Given the description of an element on the screen output the (x, y) to click on. 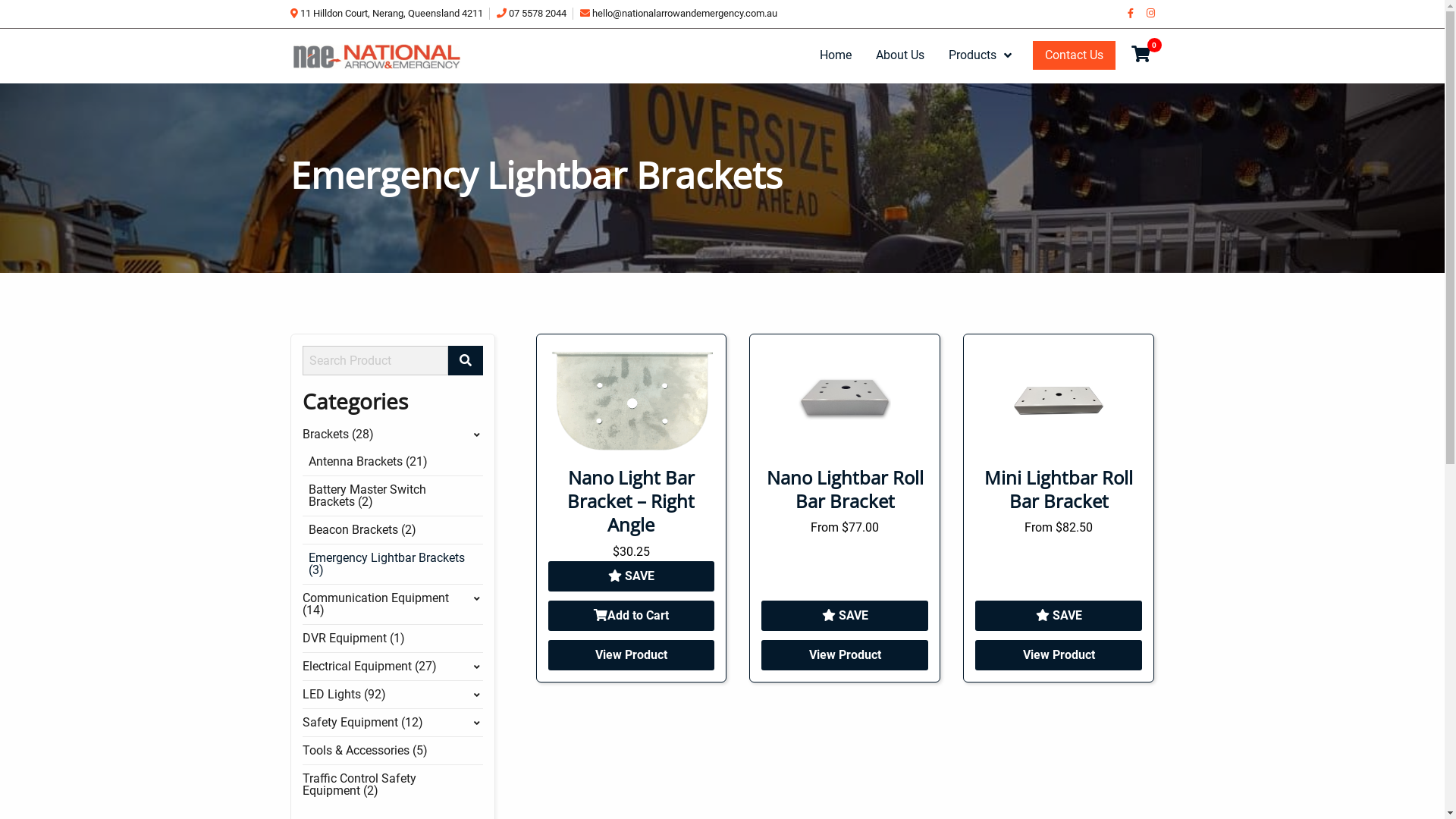
Mini Lightbar Roll Bar Bracket Element type: text (1058, 488)
Brackets (28) Element type: text (391, 434)
Products Element type: text (974, 54)
Home Element type: text (834, 54)
SAVE Element type: text (844, 615)
Contact Us Element type: text (1073, 54)
Safety Equipment (12) Element type: text (391, 722)
View Product Element type: text (1058, 655)
SAVE Element type: text (630, 576)
Tools & Accessories (5) Element type: text (391, 750)
View Product Element type: text (844, 655)
LED Lights (92) Element type: text (391, 694)
DVR Equipment (1) Element type: text (391, 638)
hello@nationalarrowandemergency.com.au Element type: text (677, 12)
Nano Lightbar Roll Bar Bracket Element type: text (844, 488)
Add to Cart Element type: text (630, 615)
11 Hilldon Court, Nerang, Queensland 4211 Element type: text (385, 12)
Emergency Lightbar Brackets (3) Element type: text (394, 563)
View Product Element type: text (630, 655)
Traffic Control Safety Equipment (2) Element type: text (391, 784)
Beacon Brackets (2) Element type: text (394, 529)
Antenna Brackets (21) Element type: text (394, 461)
Electrical Equipment (27) Element type: text (391, 666)
Communication Equipment (14) Element type: text (391, 604)
0 Element type: text (1140, 54)
About Us Element type: text (898, 54)
Battery Master Switch Brackets (2) Element type: text (394, 495)
07 5578 2044 Element type: text (530, 12)
SAVE Element type: text (1058, 615)
